Given the description of an element on the screen output the (x, y) to click on. 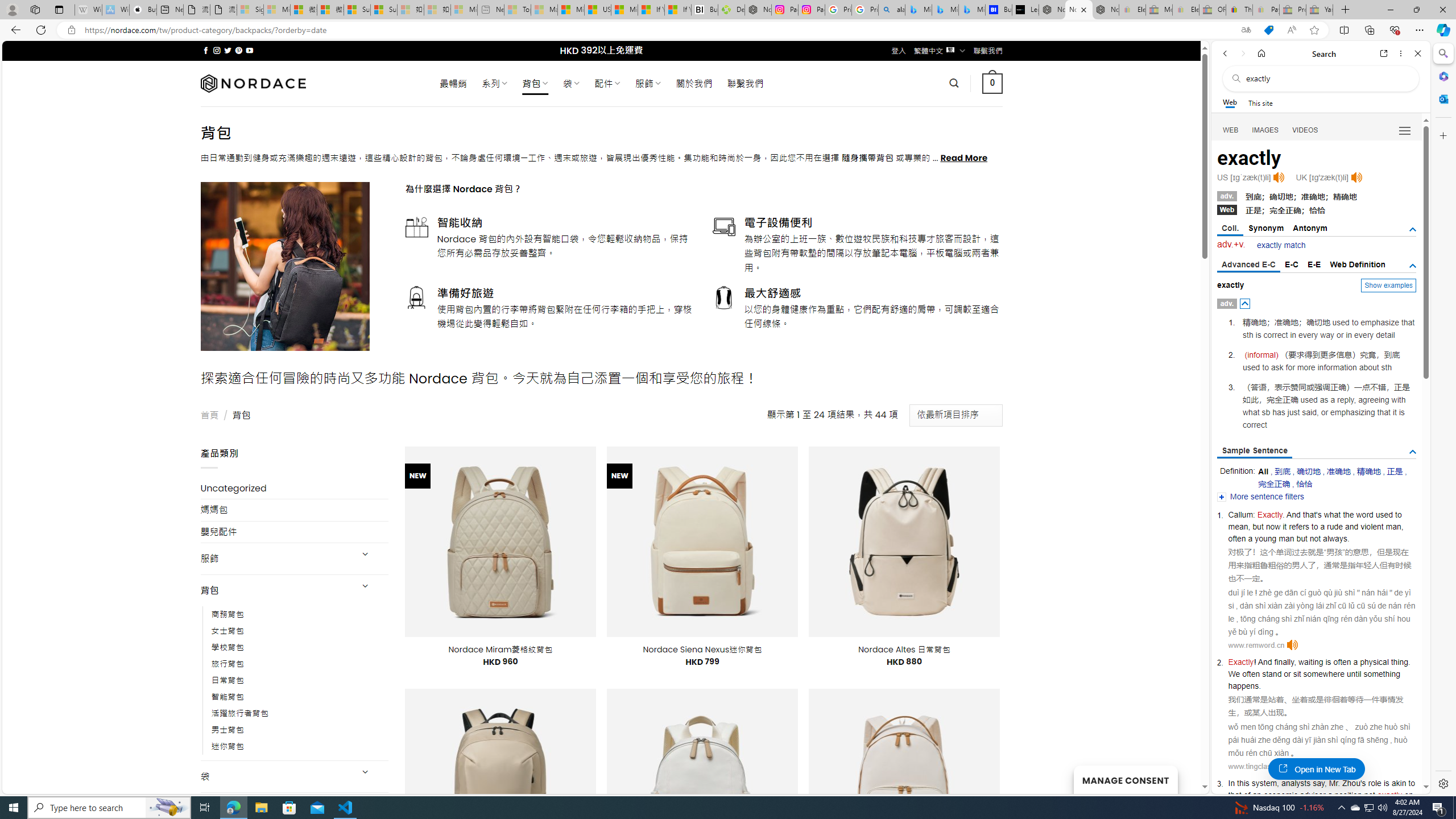
or (1287, 673)
rude (1334, 526)
happens (1243, 685)
, (1324, 782)
alabama high school quarterback dies - Search (891, 9)
Click to listen (1295, 765)
